Given the description of an element on the screen output the (x, y) to click on. 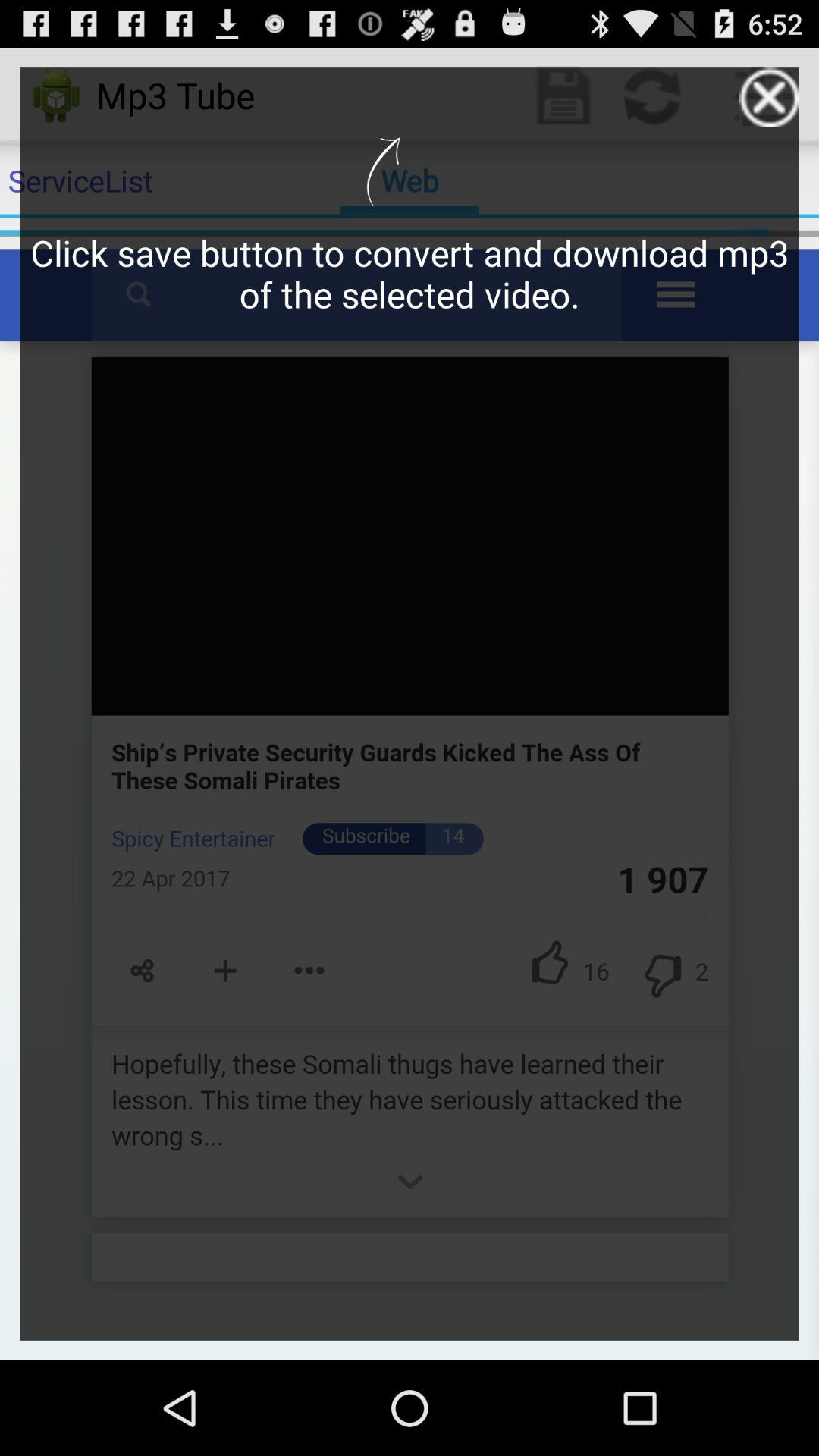
close the screen (769, 97)
